Given the description of an element on the screen output the (x, y) to click on. 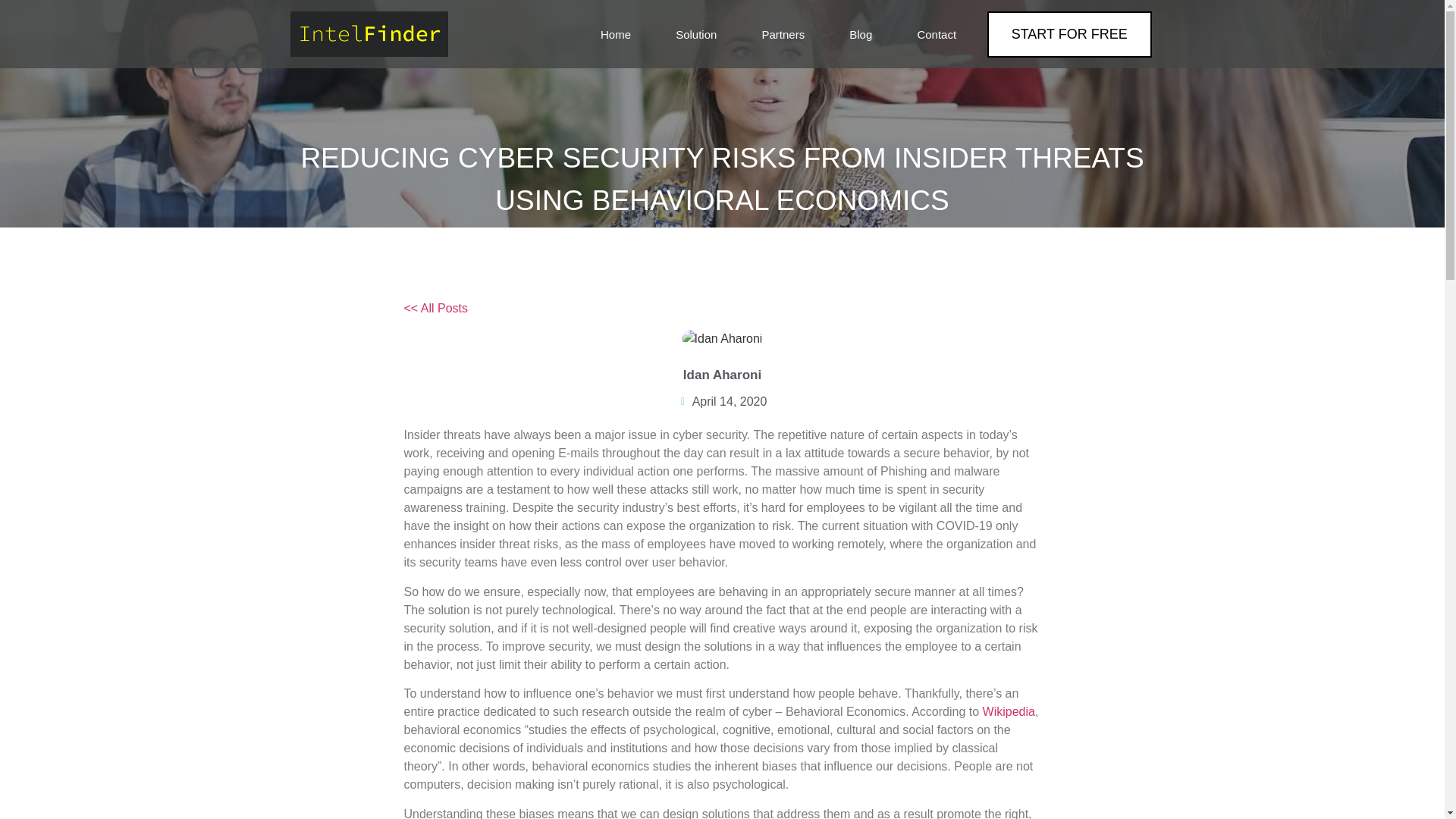
April 14, 2020 (722, 402)
Blog (861, 34)
Wikipedia (1008, 711)
Contact (936, 34)
START FOR FREE (1069, 33)
Partners (783, 34)
Home (615, 34)
Solution (696, 34)
